Given the description of an element on the screen output the (x, y) to click on. 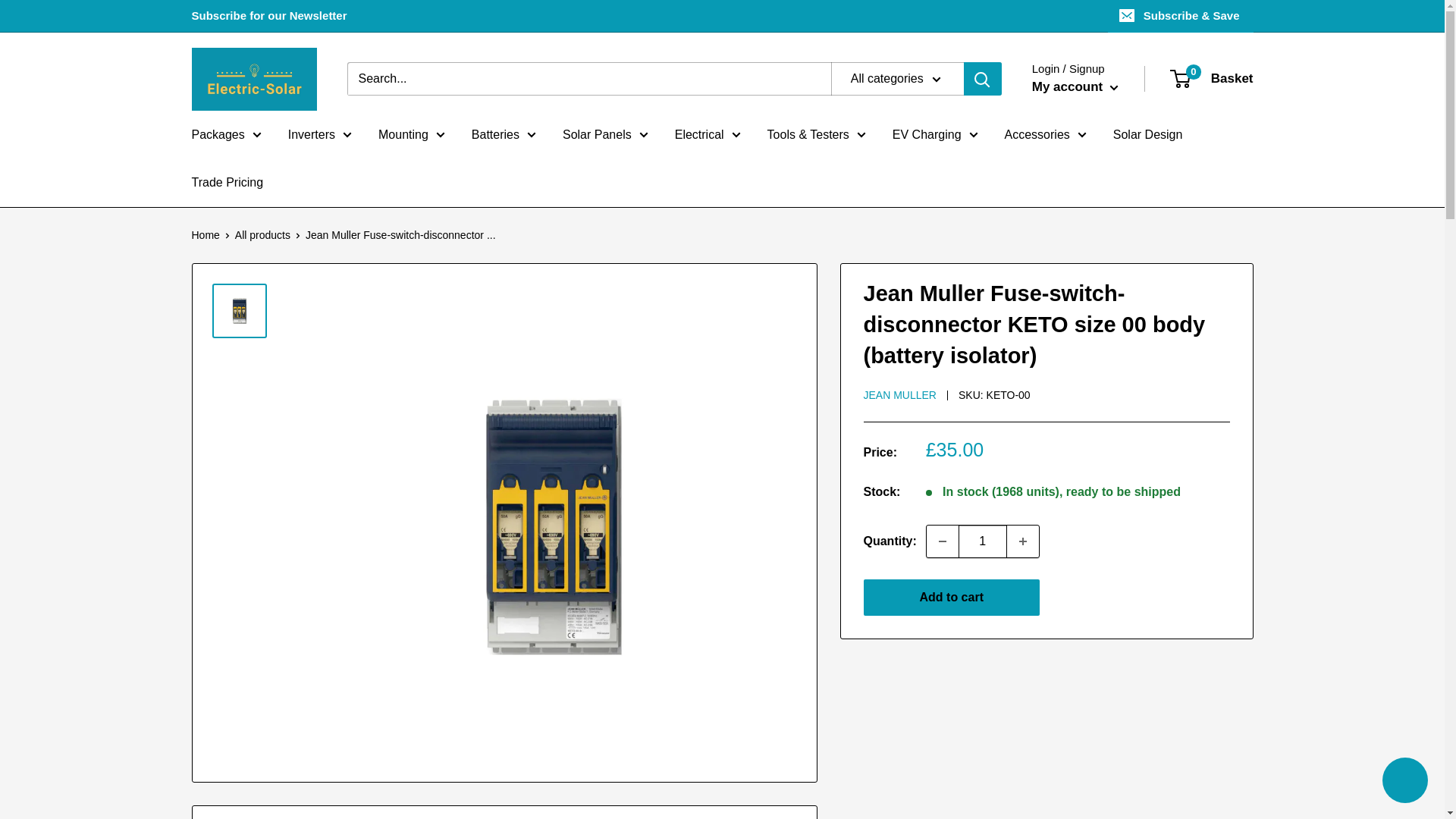
Shopify online store chat (1404, 781)
Increase quantity by 1 (1023, 541)
1 (982, 541)
Decrease quantity by 1 (942, 541)
